Given the description of an element on the screen output the (x, y) to click on. 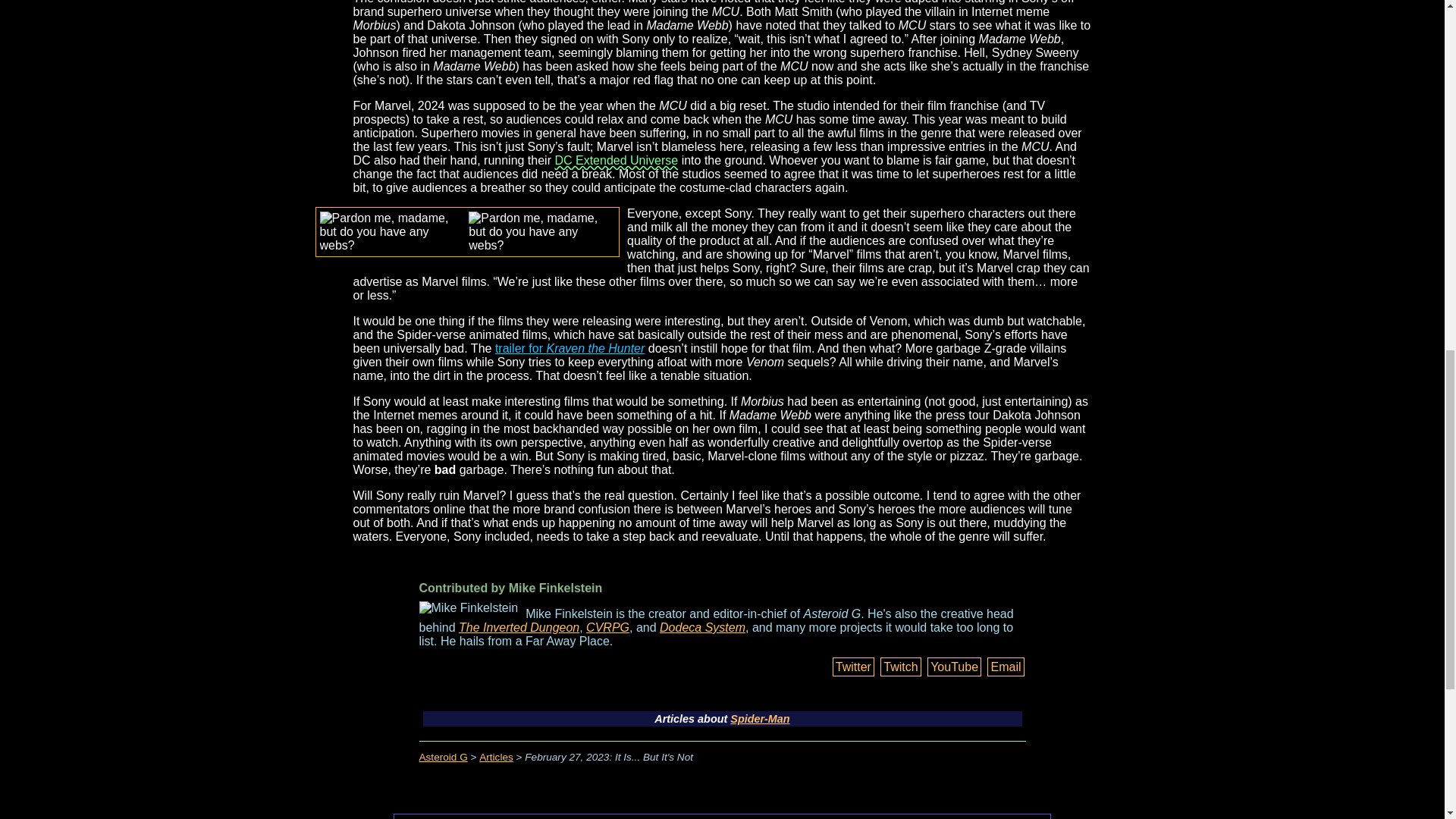
Twitch (900, 666)
The Inverted Dungeon (518, 626)
Dodeca System (702, 626)
DC Extended Universe (616, 160)
Twitter (853, 666)
CVRPG (607, 626)
Email (1005, 666)
Spider-Man (759, 718)
trailer for Kraven the Hunter (570, 348)
YouTube (954, 666)
